Given the description of an element on the screen output the (x, y) to click on. 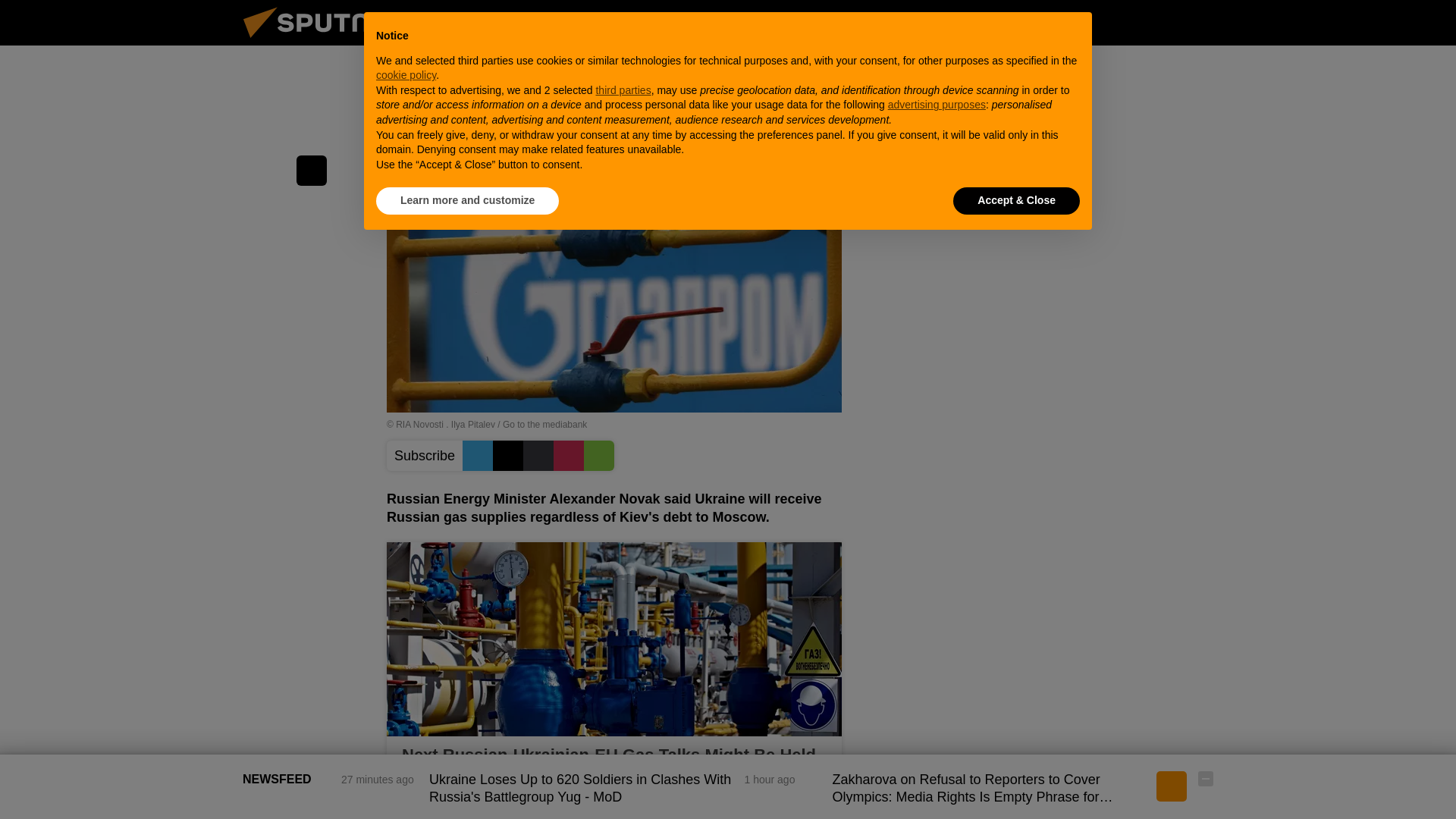
Authorization (1129, 22)
Chats (1206, 22)
Sputnik International (325, 41)
